Given the description of an element on the screen output the (x, y) to click on. 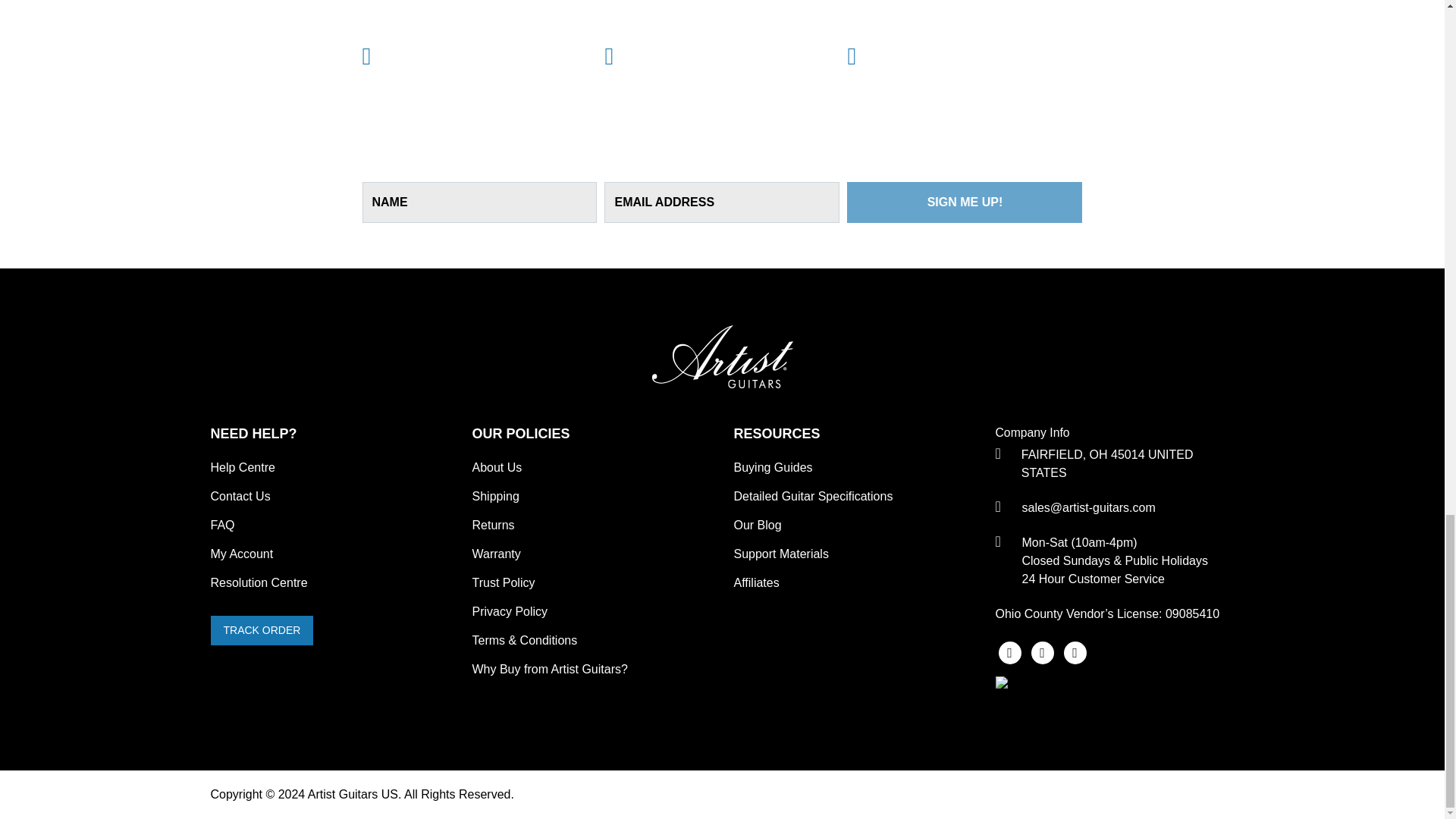
NAME (479, 201)
Artist Guitars US on Instagram (1044, 651)
EMAIL ADDRESS (722, 201)
Our Policies (590, 434)
Artist Guitars US (722, 374)
Need Help (330, 434)
Artist Guitars US on Facebook (1011, 651)
Artist Guitars US on Youtube (1075, 651)
Resources (852, 434)
